Given the description of an element on the screen output the (x, y) to click on. 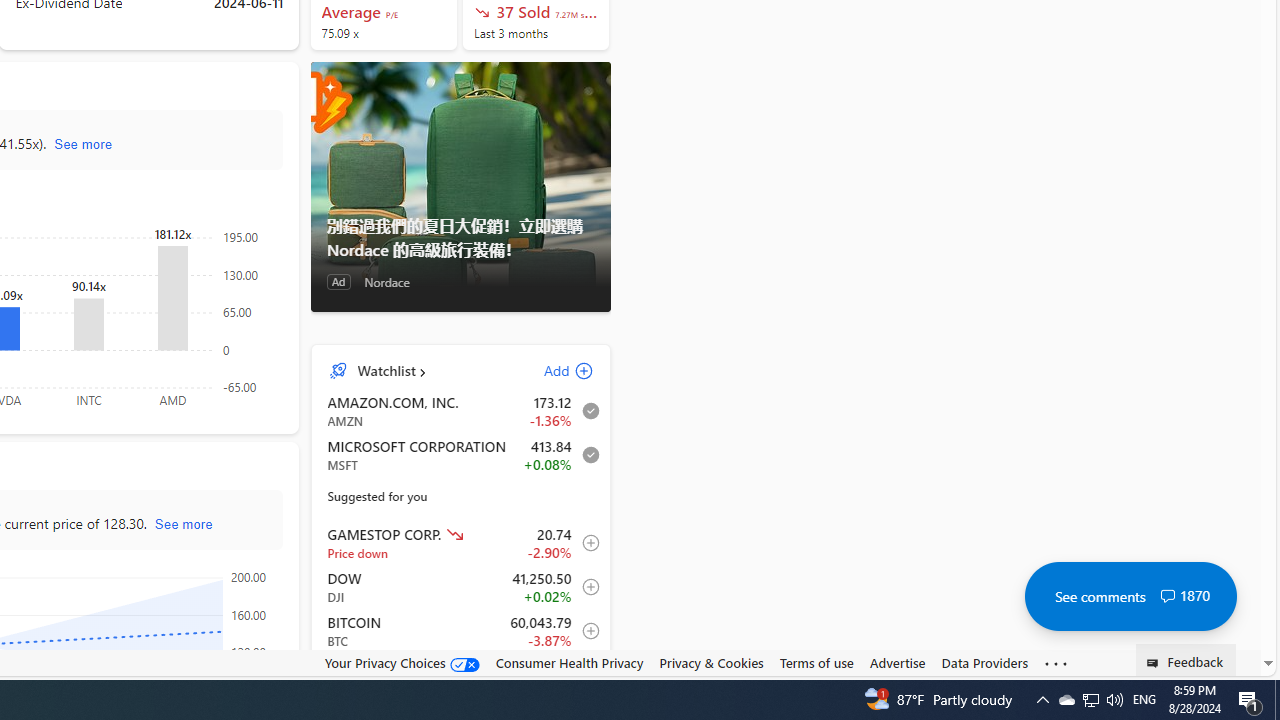
Terms of use (816, 663)
See comments 1870 (1130, 596)
